Given the description of an element on the screen output the (x, y) to click on. 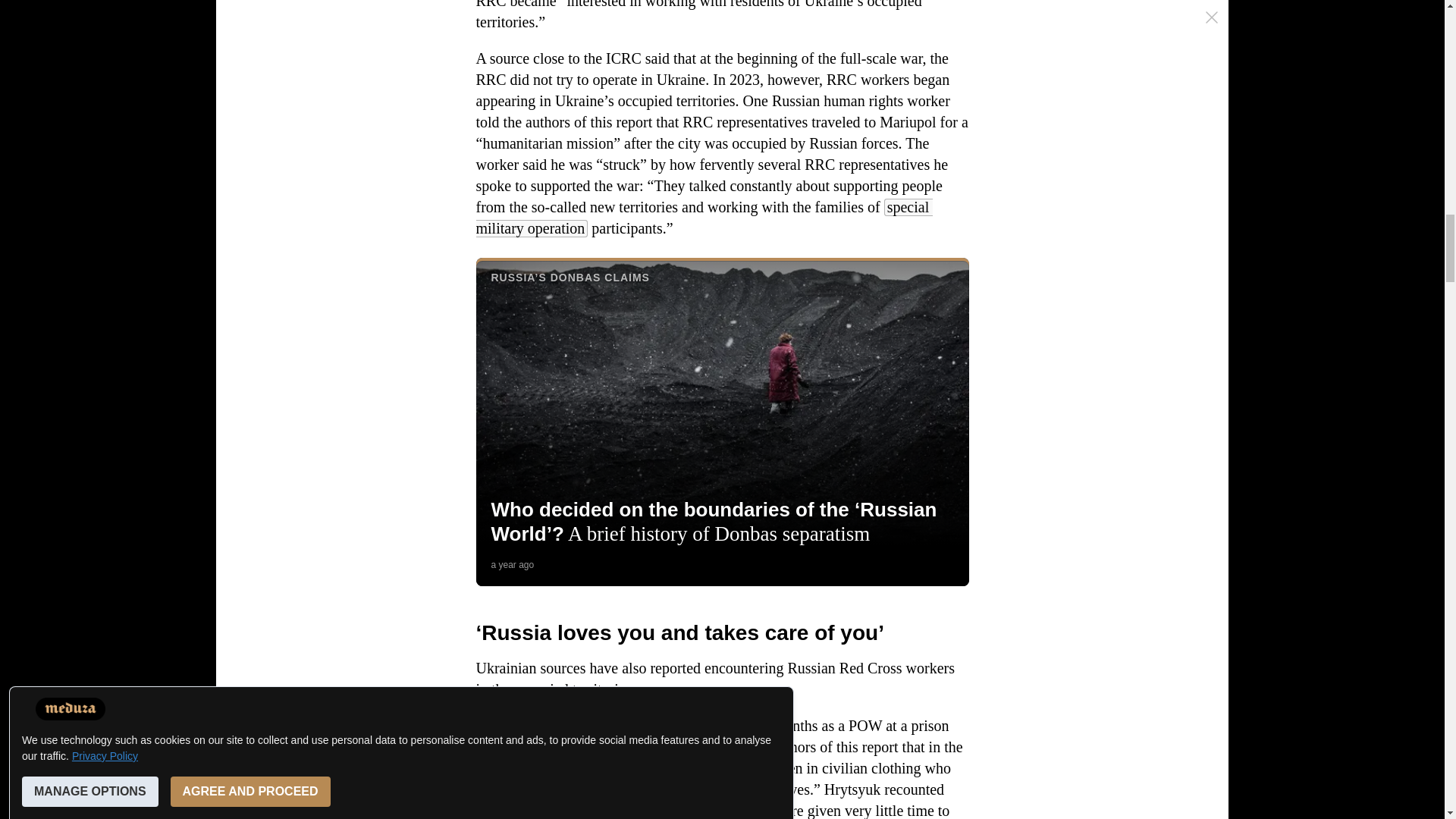
spent (732, 725)
